Given the description of an element on the screen output the (x, y) to click on. 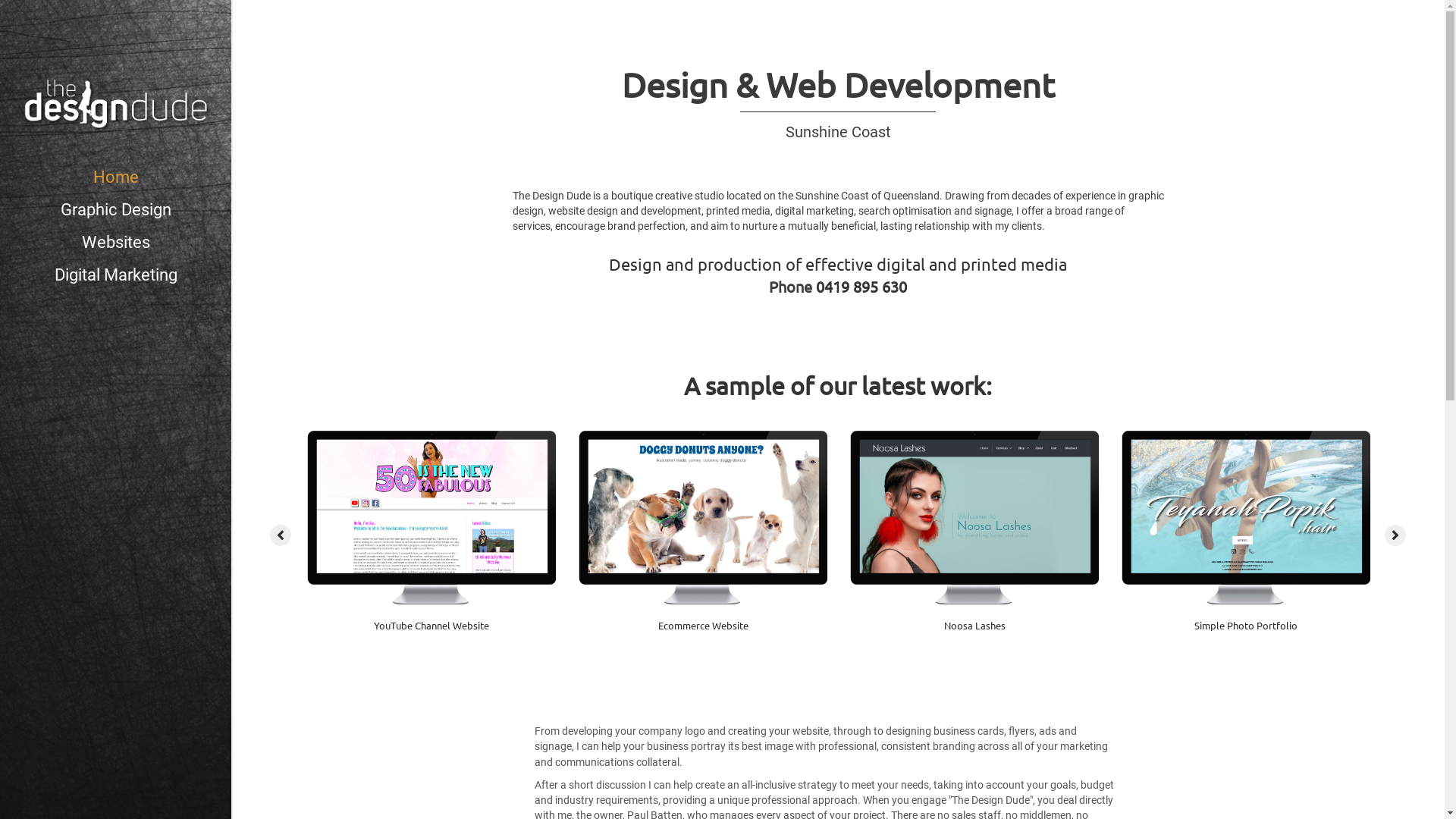
Websites Element type: text (115, 247)
Doggy-Donuts Element type: hover (702, 516)
wrapmasters-website Element type: hover (159, 516)
noosalashesweb Element type: hover (974, 516)
Home Element type: text (115, 182)
Graphic Design Element type: text (115, 214)
50-is-the-new-fabulous Element type: hover (431, 516)
0419 895 630 Element type: text (860, 285)
Digital Marketing Element type: text (115, 279)
Teyanah-web Element type: hover (1245, 516)
